Given the description of an element on the screen output the (x, y) to click on. 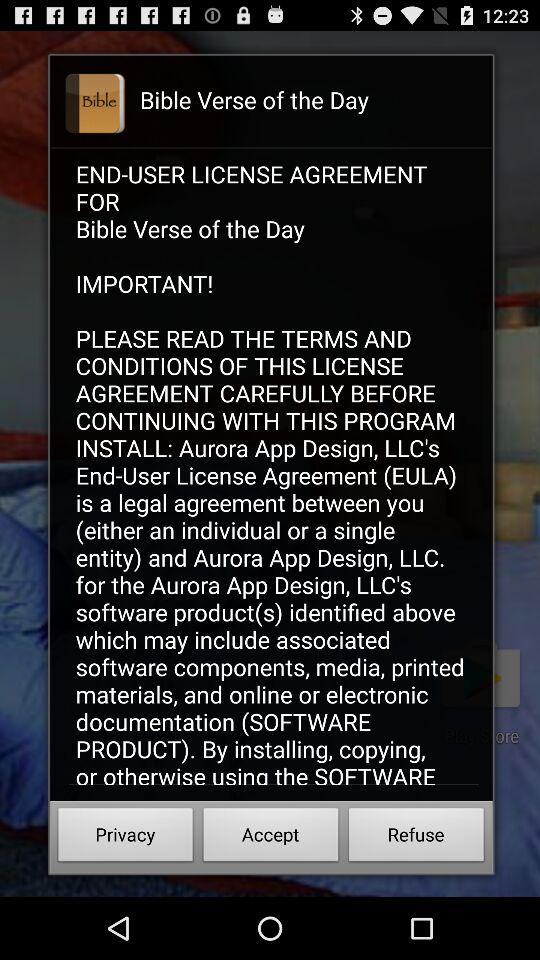
turn off icon below end user license (416, 837)
